Given the description of an element on the screen output the (x, y) to click on. 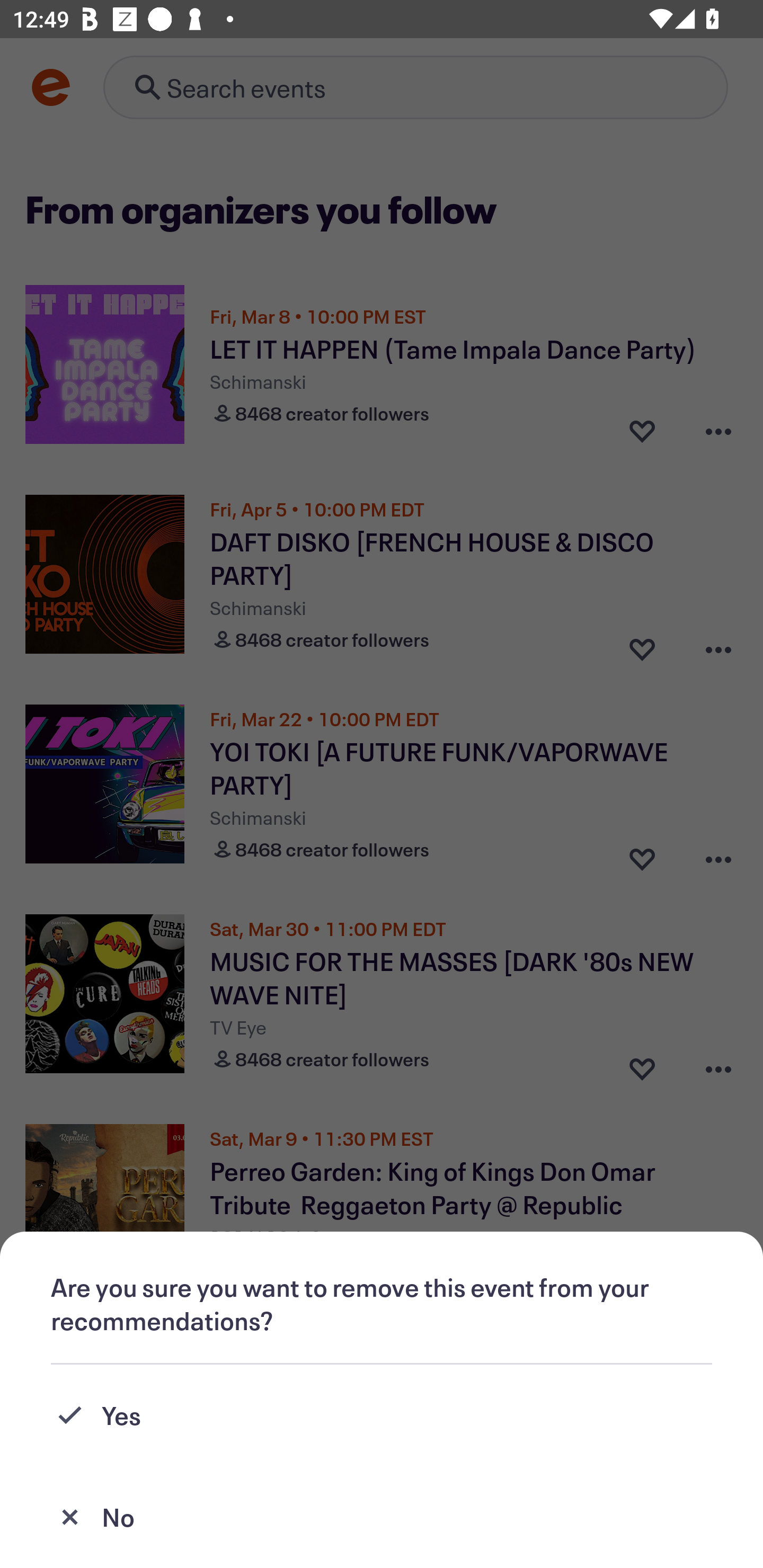
Yes (381, 1415)
No (381, 1517)
